Given the description of an element on the screen output the (x, y) to click on. 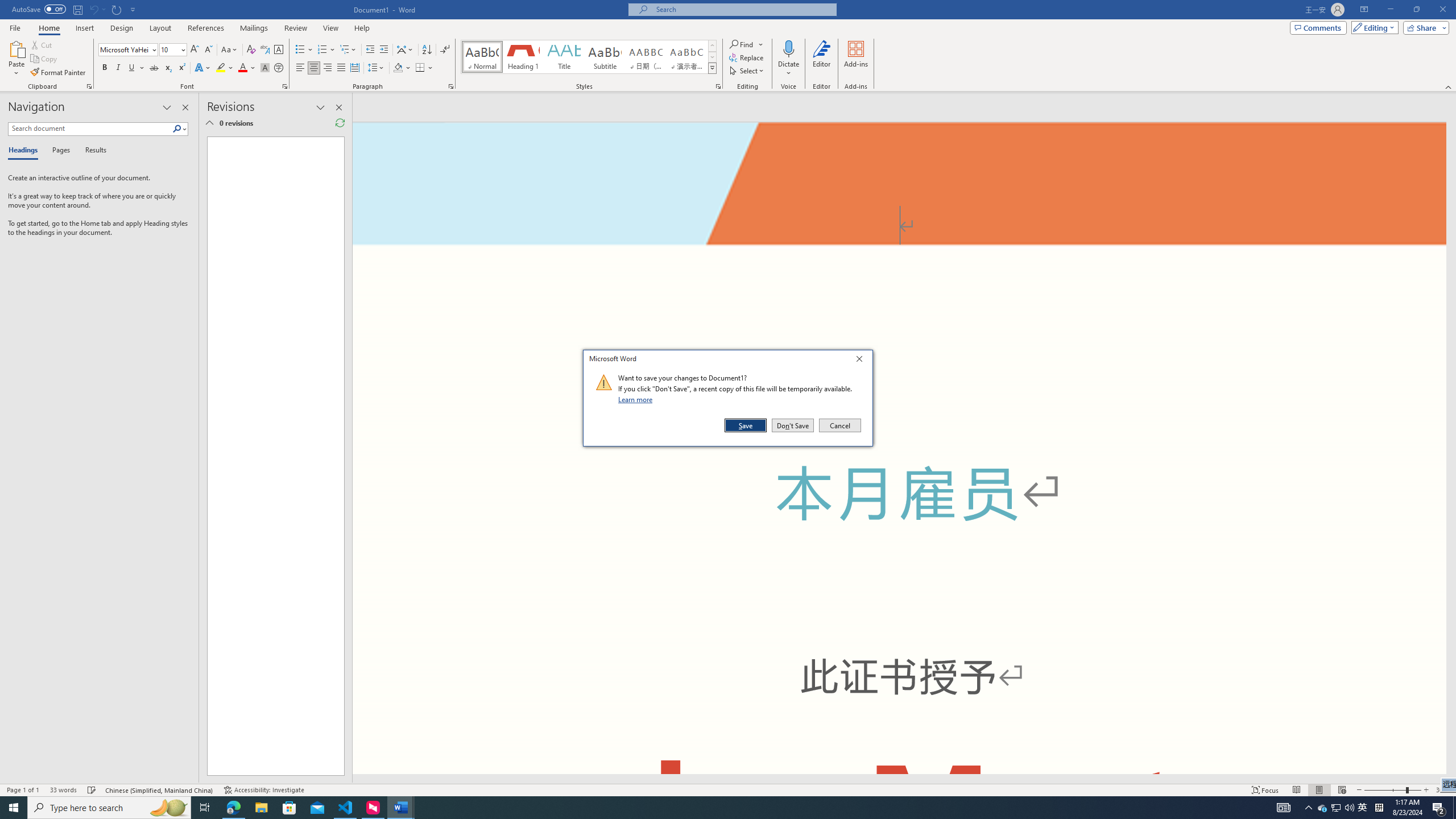
Copy (45, 58)
Pages (59, 150)
Word - 2 running windows (1362, 807)
Sort... (400, 807)
Text Effects and Typography (426, 49)
Results (202, 67)
Justify (91, 150)
Text Highlight Color (340, 67)
Styles (224, 67)
Zoom 308% (711, 67)
Page 1 content (1443, 790)
Paragraph... (271, 455)
Distributed (450, 85)
